Given the description of an element on the screen output the (x, y) to click on. 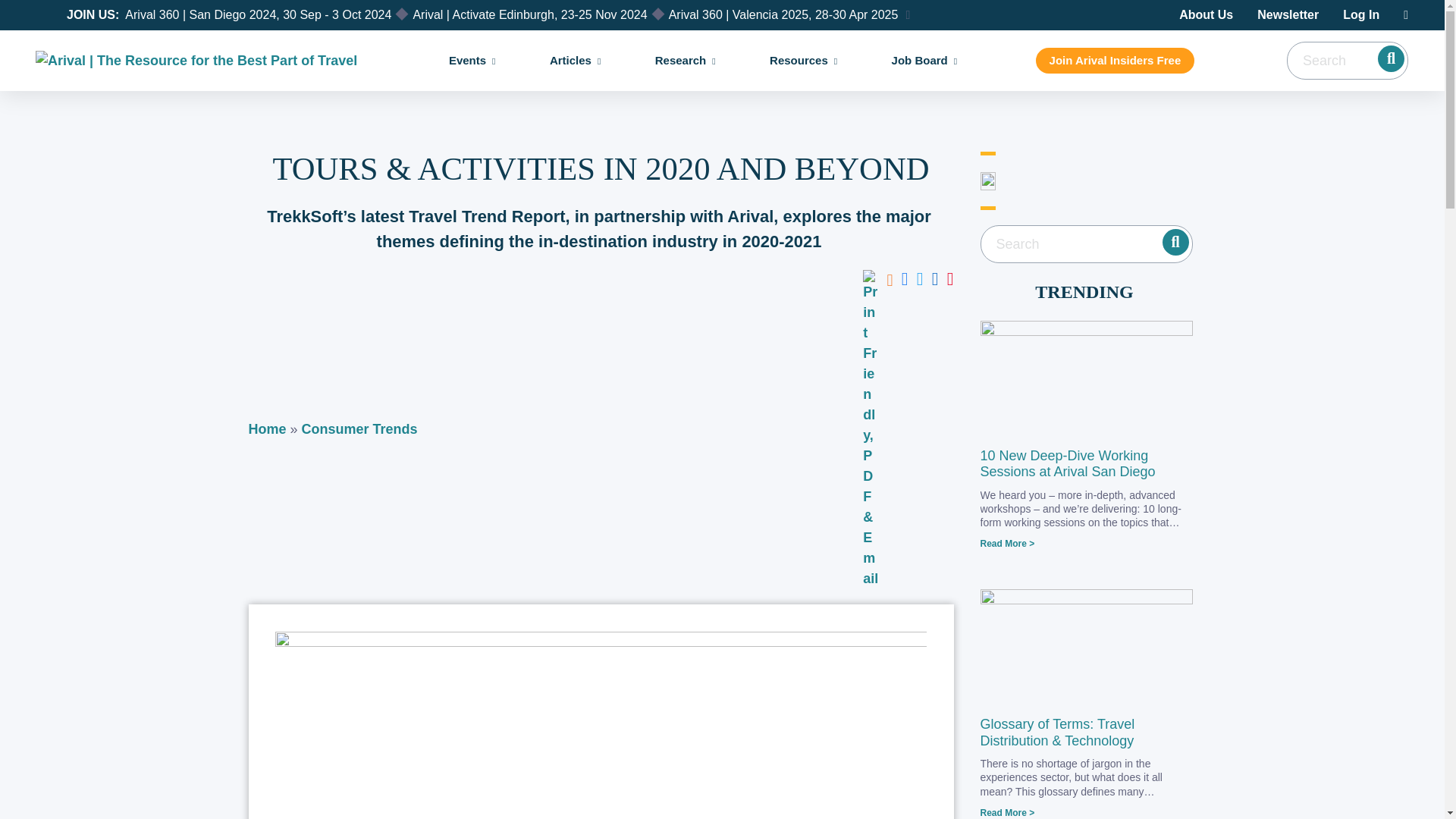
JOIN US: (95, 14)
About Us (1206, 14)
Newsletter (1288, 14)
Log In (1360, 14)
Articles (574, 60)
Events (472, 60)
